Given the description of an element on the screen output the (x, y) to click on. 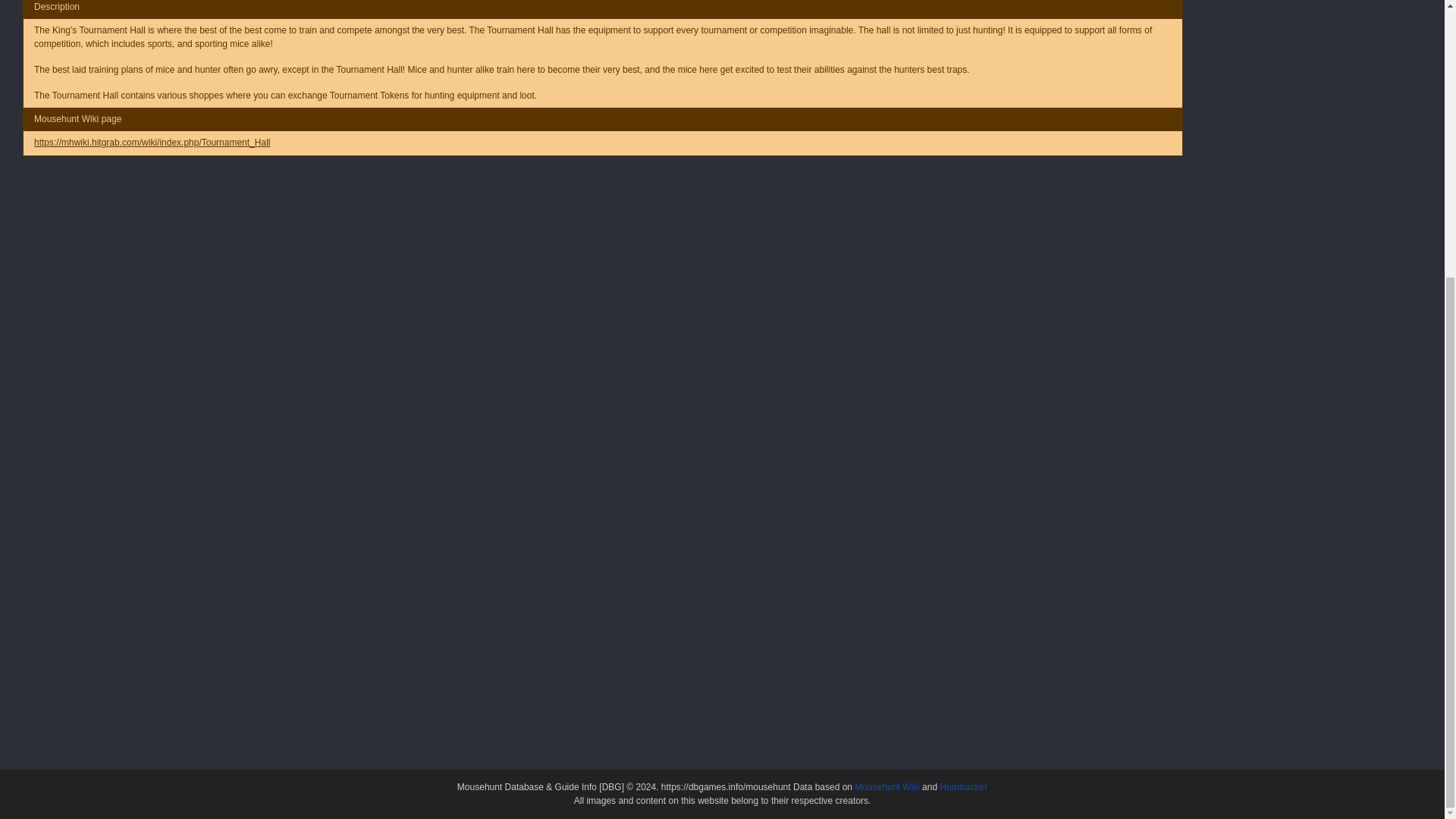
Advertisement (1307, 61)
Advertisement (603, 214)
